Given the description of an element on the screen output the (x, y) to click on. 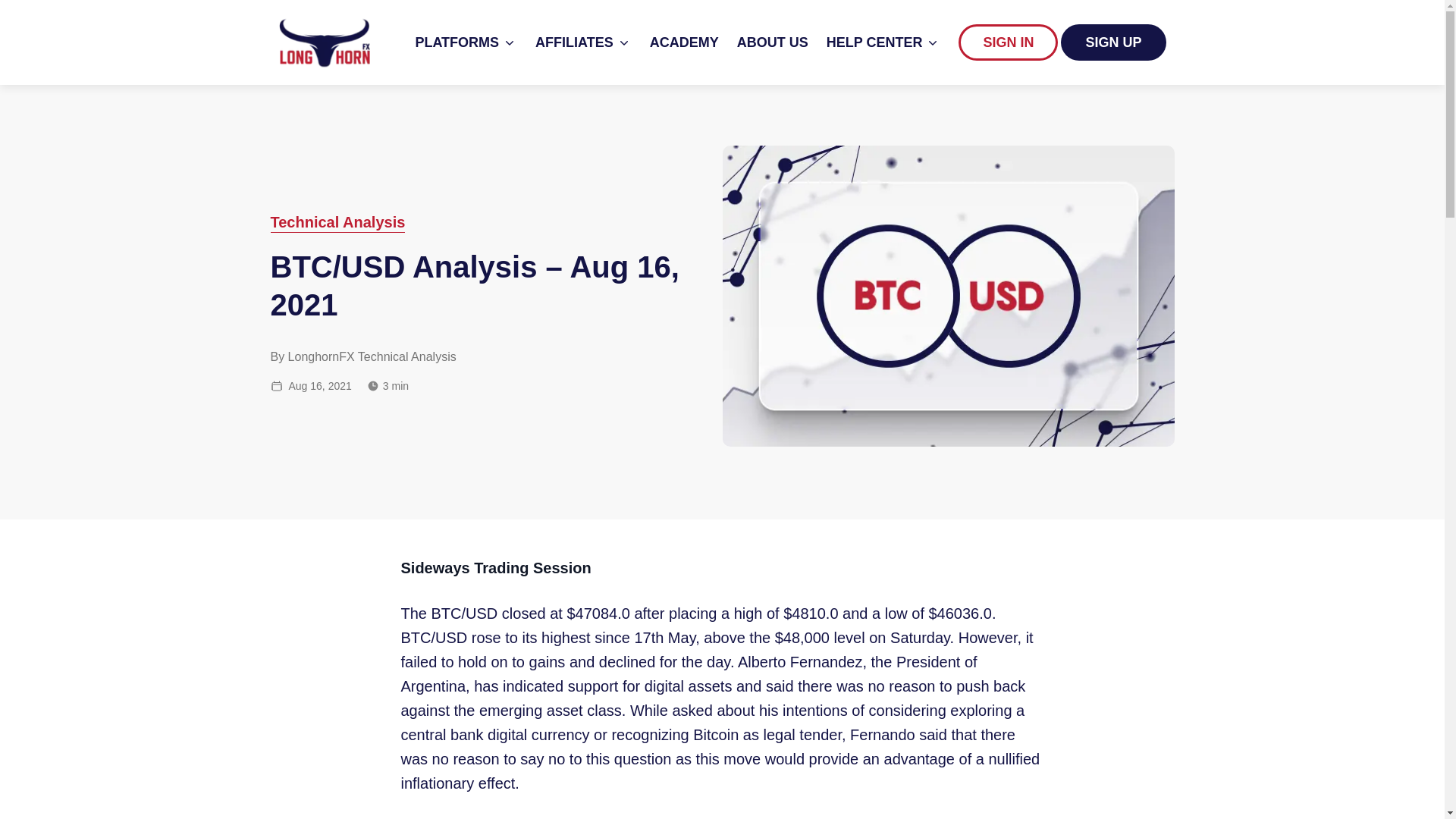
ACADEMY (684, 42)
AFFILIATES (583, 42)
HELP CENTER (883, 42)
SIGN IN (1007, 42)
PLATFORMS (465, 42)
ABOUT US (772, 42)
SIGN IN (1008, 42)
Technical Analysis (336, 221)
SIGN UP (1113, 42)
SIGN UP (1112, 42)
